Given the description of an element on the screen output the (x, y) to click on. 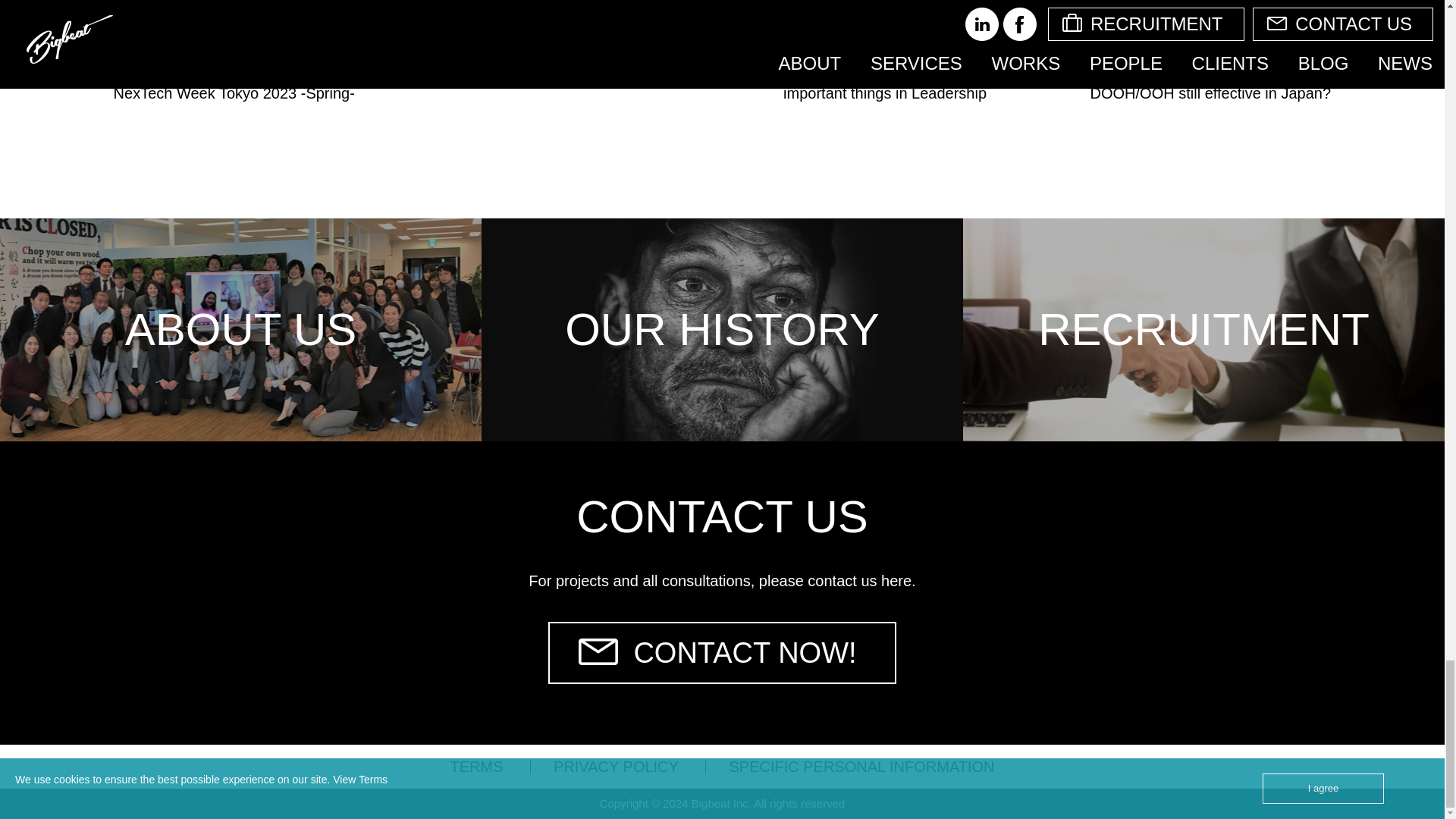
CONTACT NOW! (721, 652)
TERMS (475, 766)
PRIVACY POLICY (616, 766)
